Given the description of an element on the screen output the (x, y) to click on. 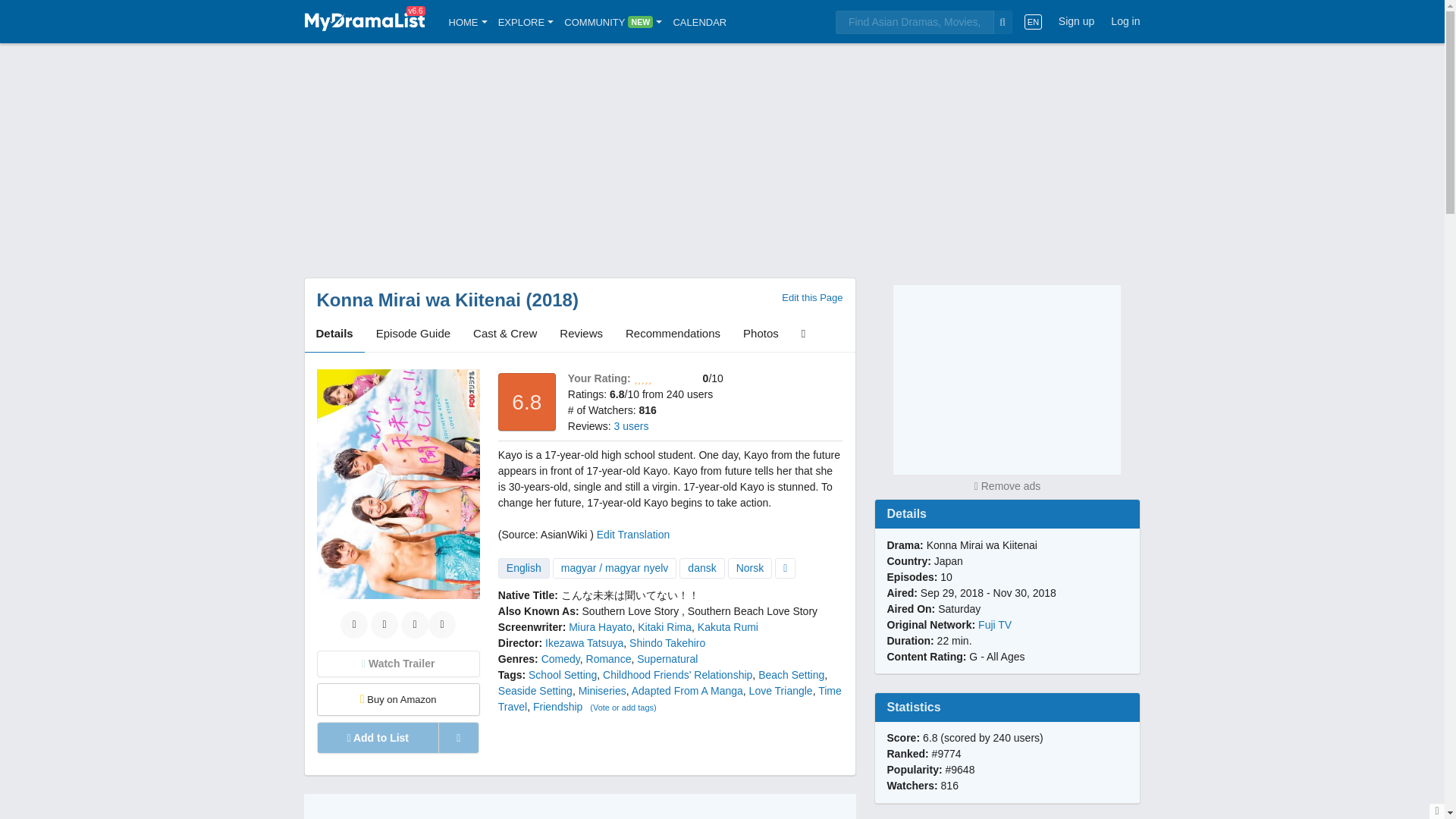
Southern Beach Love Story (751, 611)
HOME (467, 21)
v6.6 (364, 21)
Konna Mirai wa Kiitenai (419, 299)
Southern Love Story (630, 611)
